Given the description of an element on the screen output the (x, y) to click on. 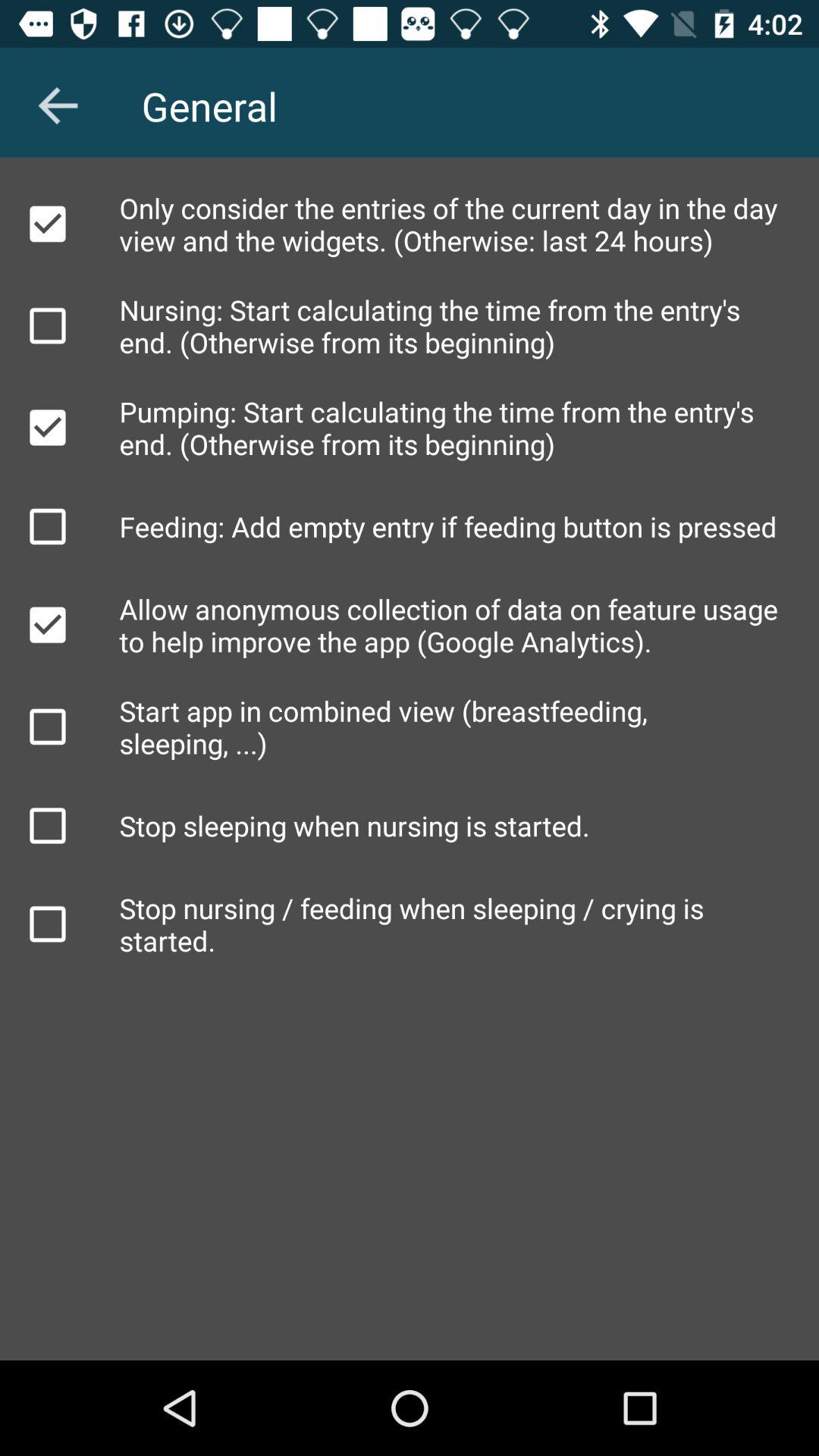
select the square (47, 825)
